Given the description of an element on the screen output the (x, y) to click on. 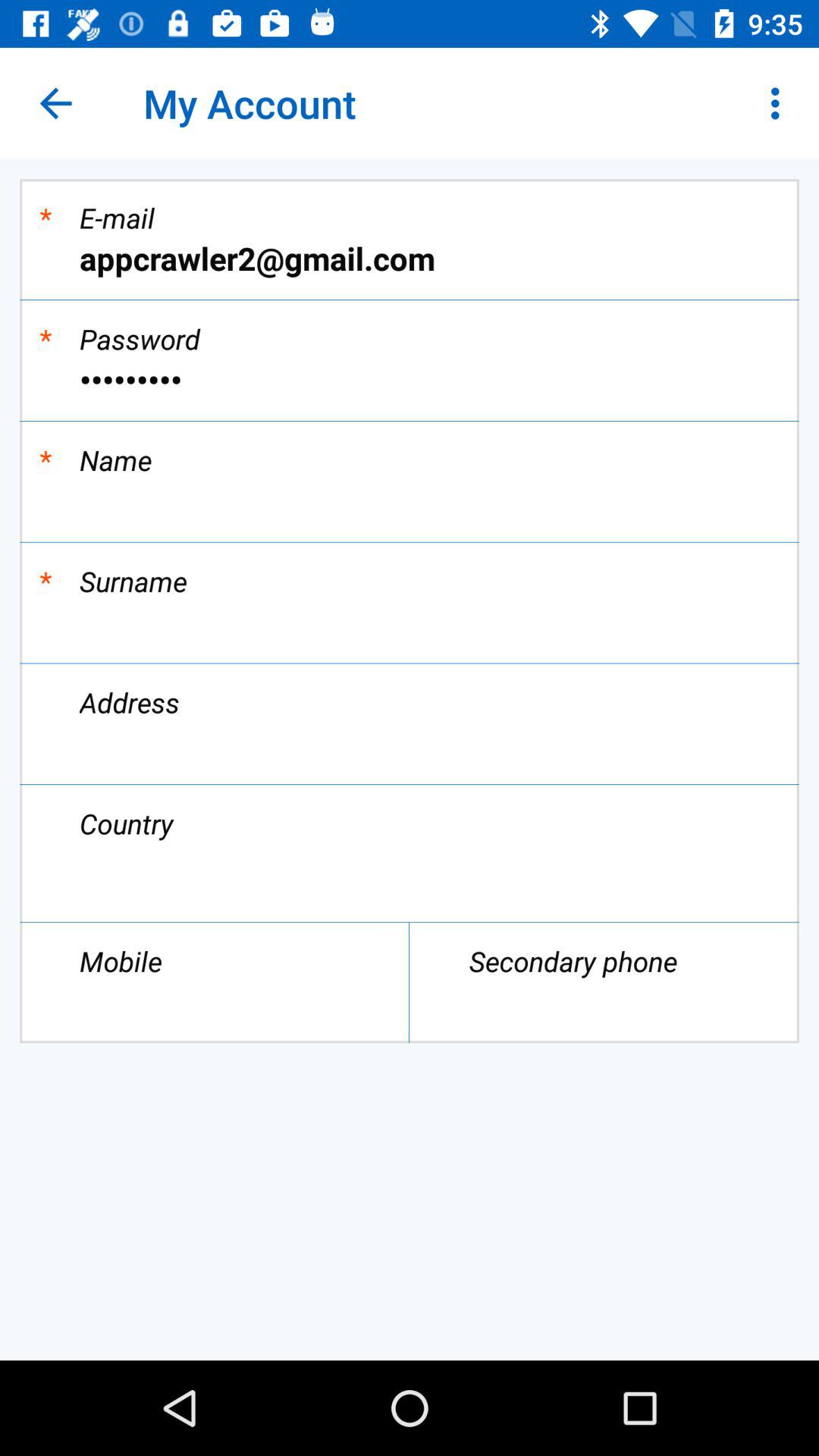
give you access to type surname (409, 621)
